Given the description of an element on the screen output the (x, y) to click on. 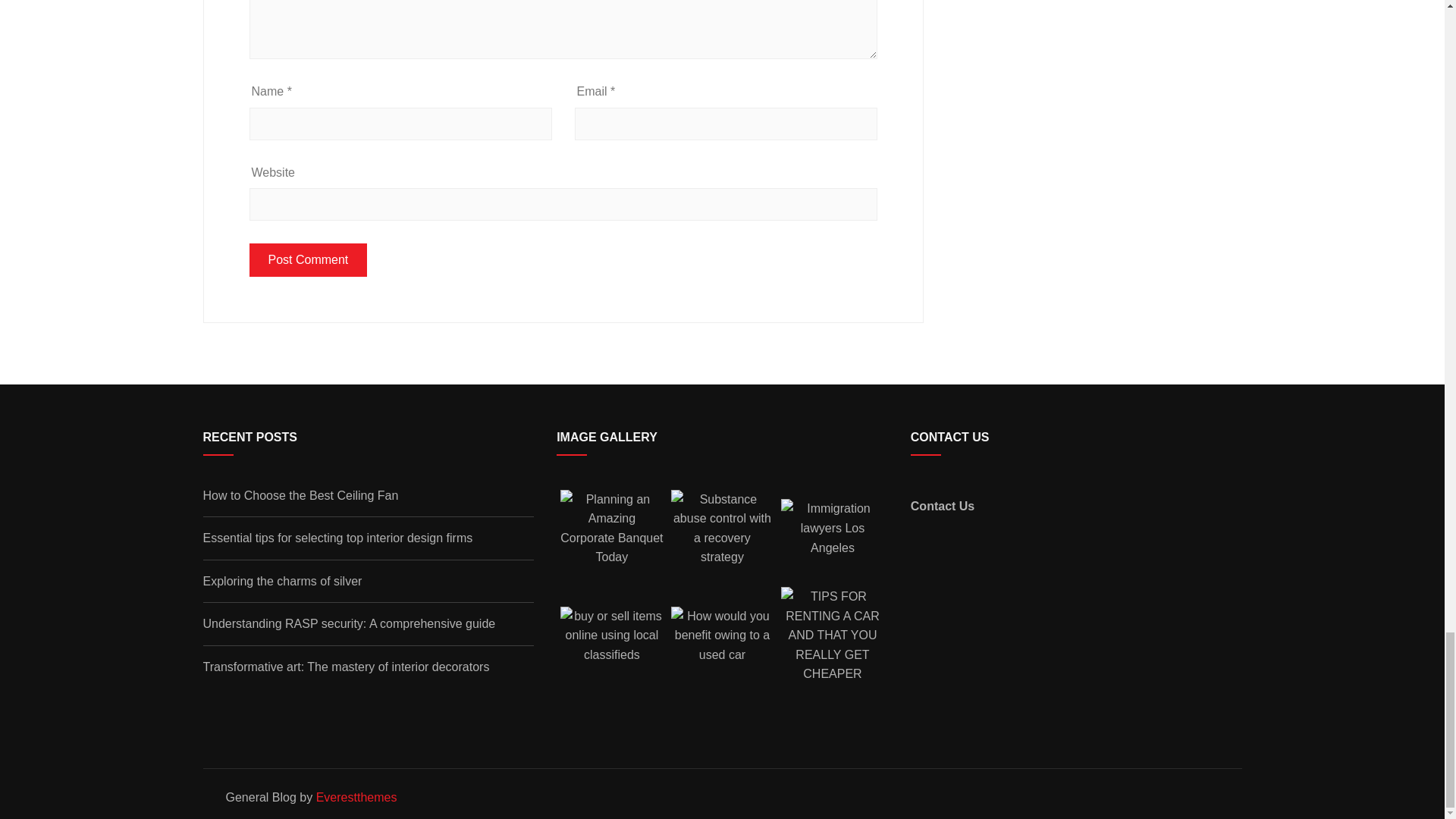
Post Comment (307, 259)
